Given the description of an element on the screen output the (x, y) to click on. 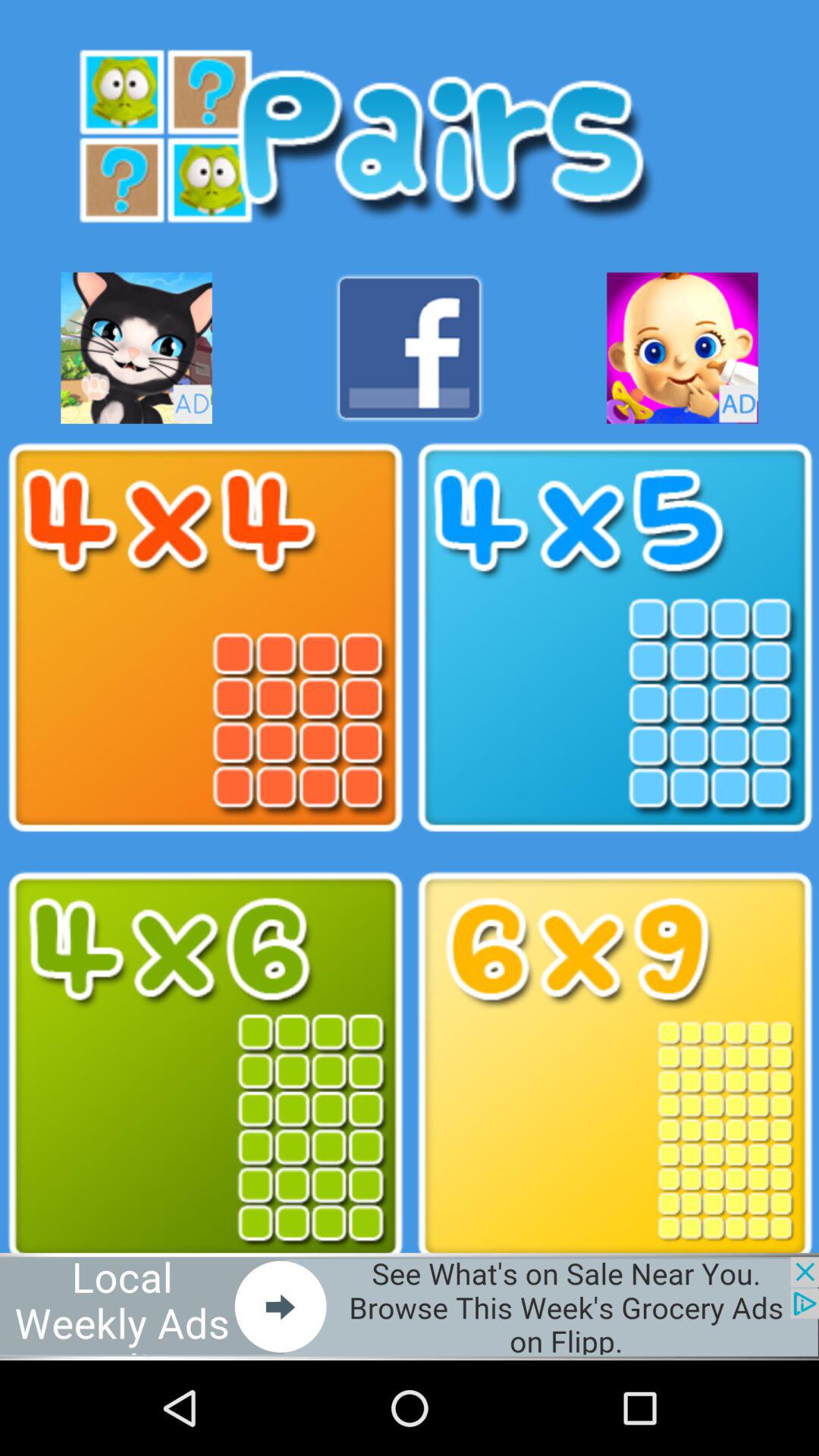
game page (614, 1066)
